Given the description of an element on the screen output the (x, y) to click on. 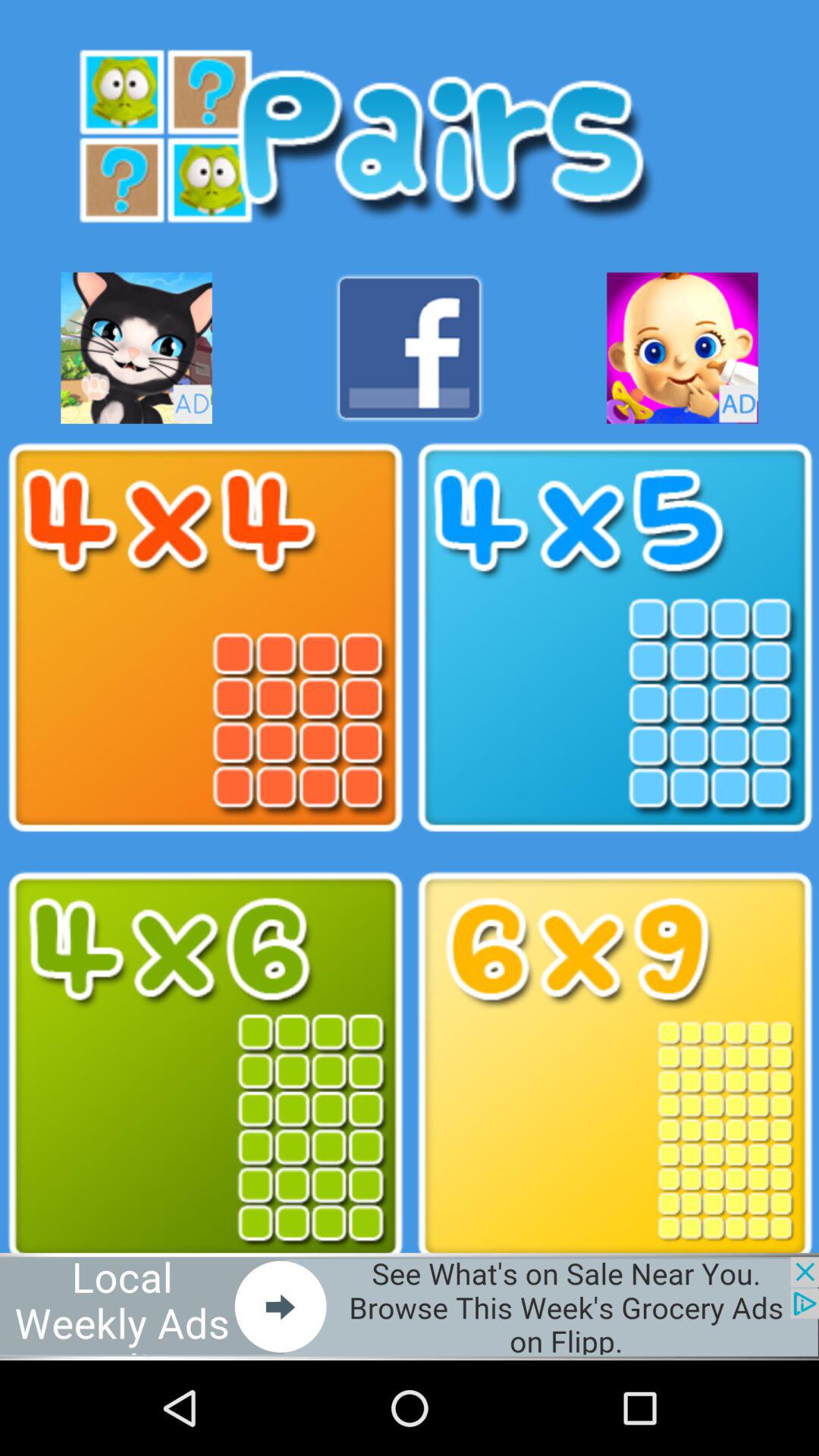
game page (614, 1066)
